Given the description of an element on the screen output the (x, y) to click on. 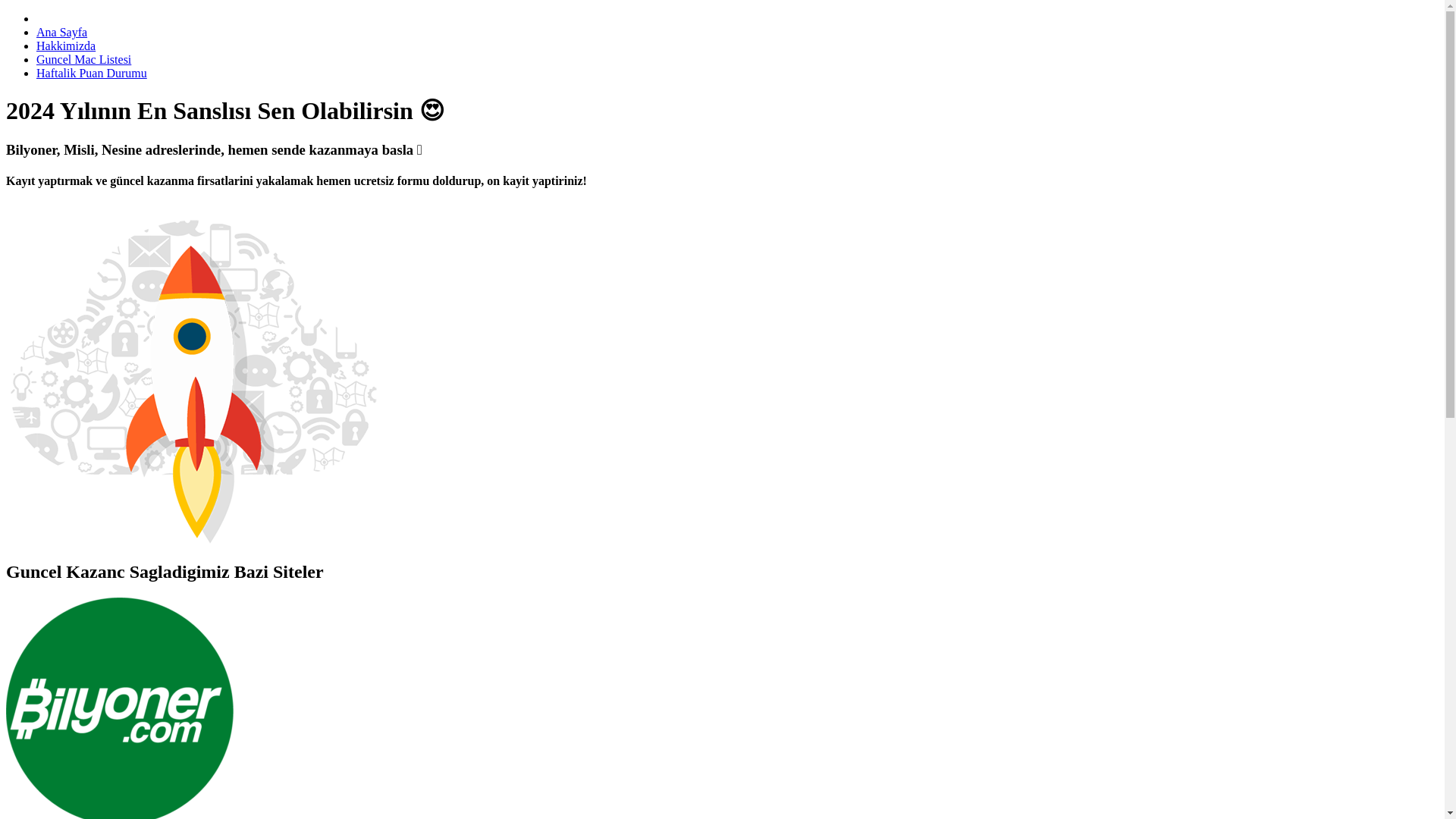
Ana Sayfa (61, 31)
Ana Sayfa (61, 31)
Guncel Mac Listesi (83, 59)
Hakkimizda (66, 45)
Haftalik Puan Durumu (91, 72)
Haftalik Puan Durumu (91, 72)
Hakkimizda (66, 45)
Guncel Mac Listesi (83, 59)
